Given the description of an element on the screen output the (x, y) to click on. 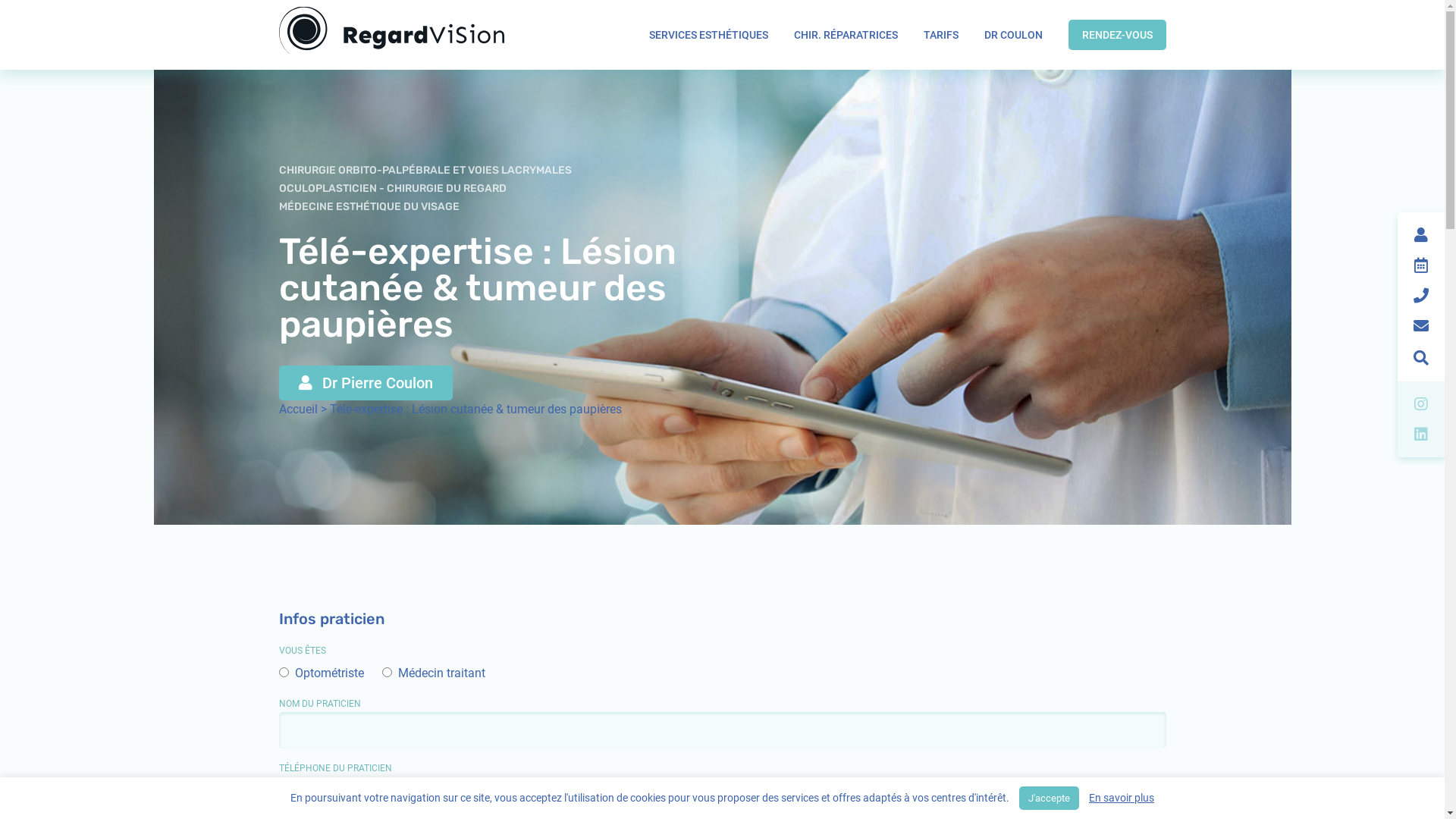
En savoir plus Element type: text (1121, 797)
TARIFS Element type: text (940, 34)
RENDEZ-VOUS Element type: text (1116, 34)
J'accepte Element type: text (1049, 797)
DR COULON Element type: text (1013, 34)
Accueil Element type: text (298, 408)
Dr Pierre Coulon Element type: text (365, 382)
